Given the description of an element on the screen output the (x, y) to click on. 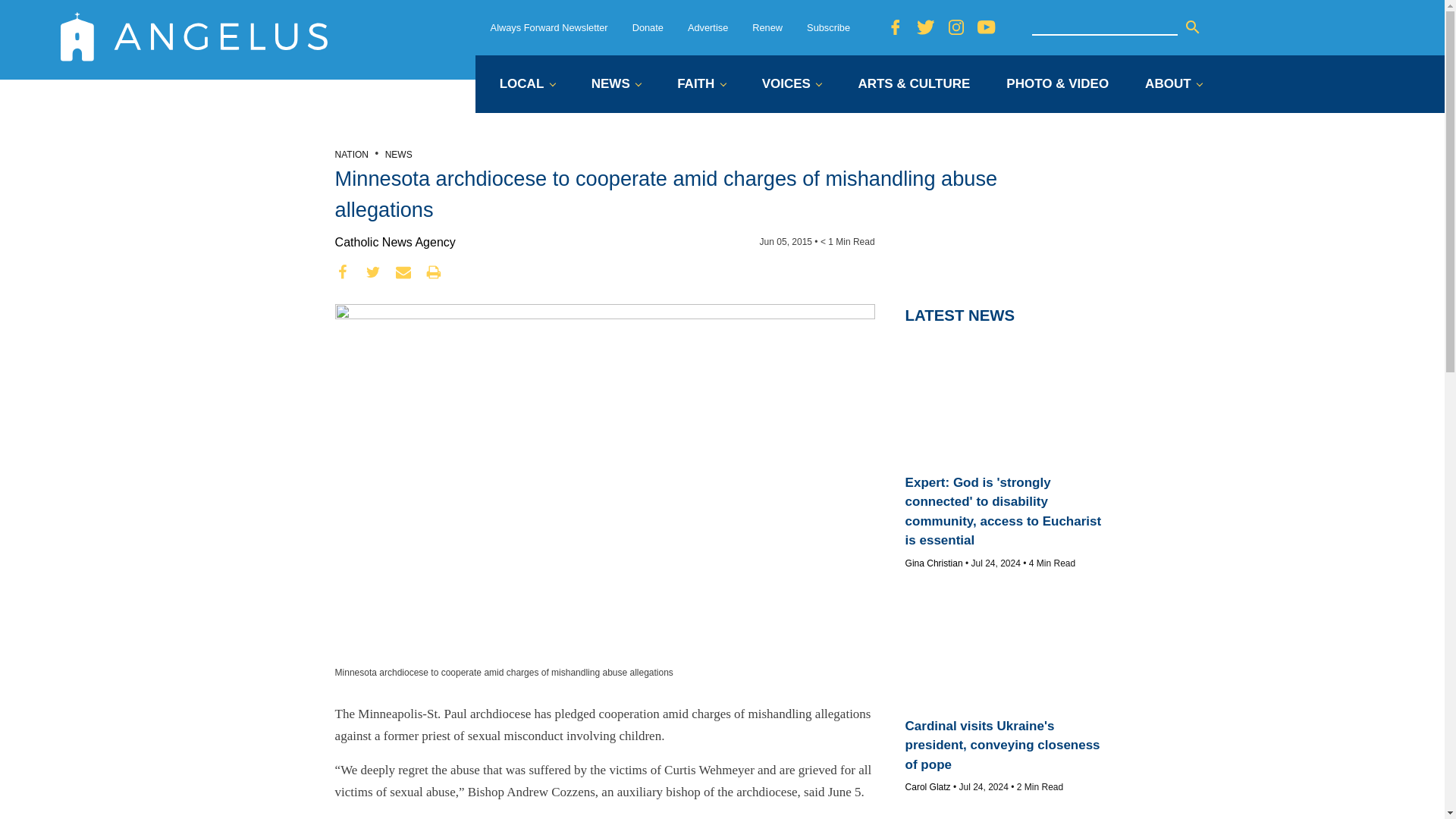
Posts by Catholic News Agency (394, 241)
Posts by Gina Christian (933, 562)
facebook (342, 272)
Advertise (707, 27)
Renew (767, 27)
VOICES (791, 84)
print (433, 272)
Posts by Carol Glatz (927, 787)
Search (1192, 27)
Donate (647, 27)
envelope (403, 272)
NEWS (615, 84)
FAITH (701, 84)
Always Forward Newsletter (549, 27)
ABOUT (1173, 84)
